Given the description of an element on the screen output the (x, y) to click on. 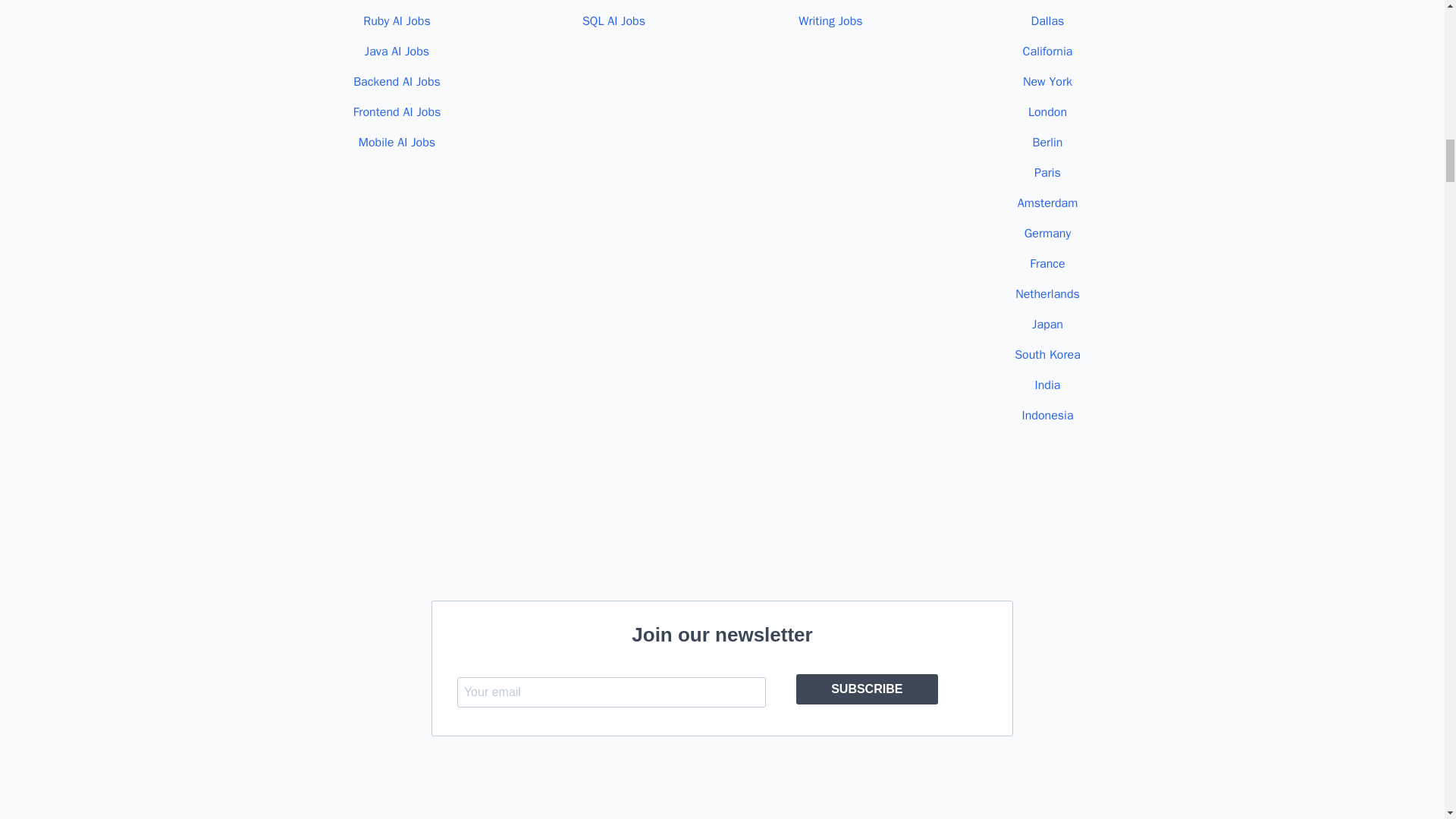
California (1048, 51)
Mobile AI Jobs (396, 142)
SQL AI Jobs (613, 20)
Berlin (1047, 142)
Paris (1047, 172)
Germany (1047, 233)
New York (1047, 81)
Ruby AI Jobs (396, 20)
London (1047, 111)
Frontend AI Jobs (397, 111)
